Given the description of an element on the screen output the (x, y) to click on. 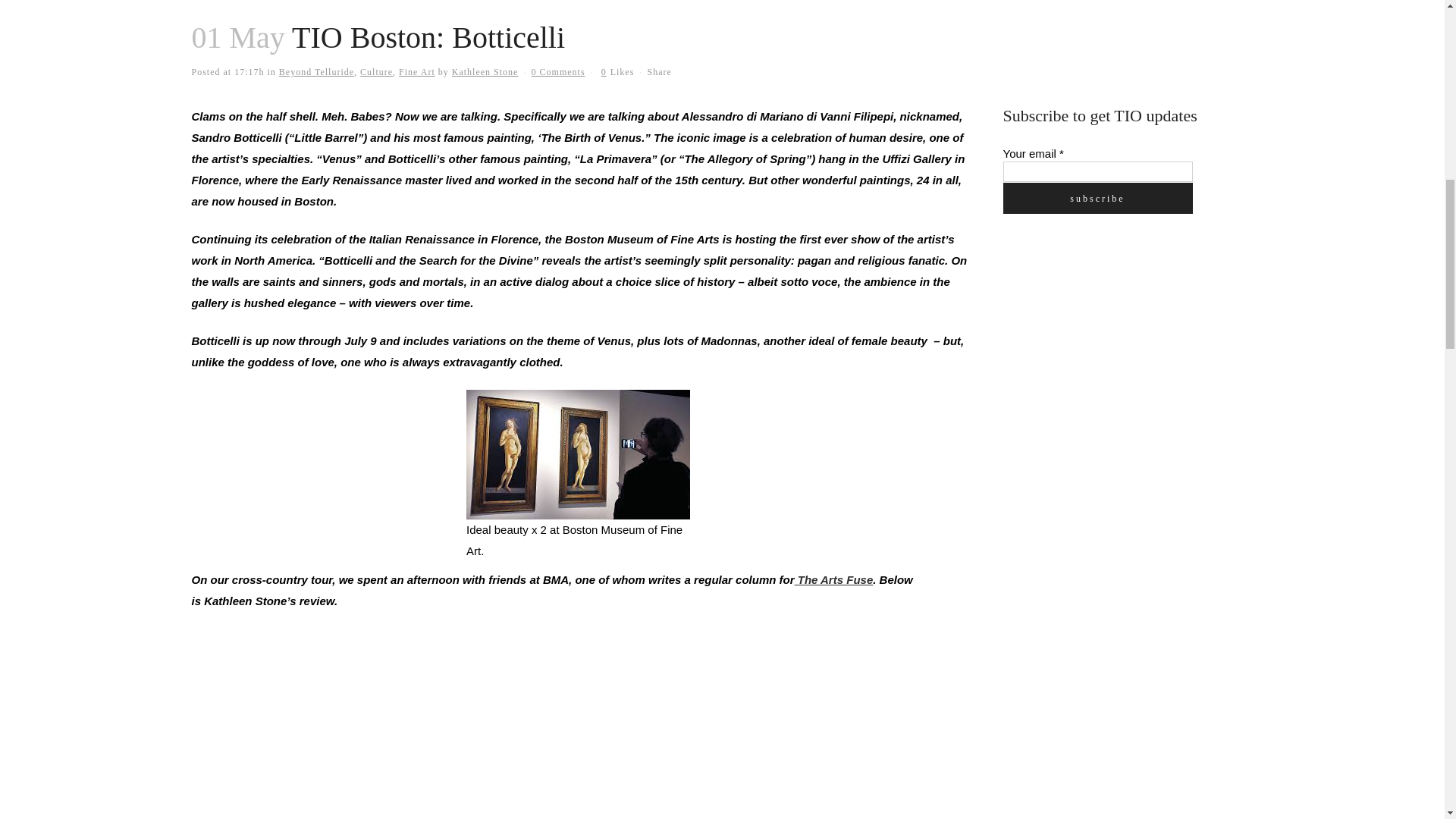
Like this (617, 71)
Subscribe (1097, 197)
3rd party ad content (1116, 339)
3rd party ad content (1116, 36)
Your email (1097, 171)
